Given the description of an element on the screen output the (x, y) to click on. 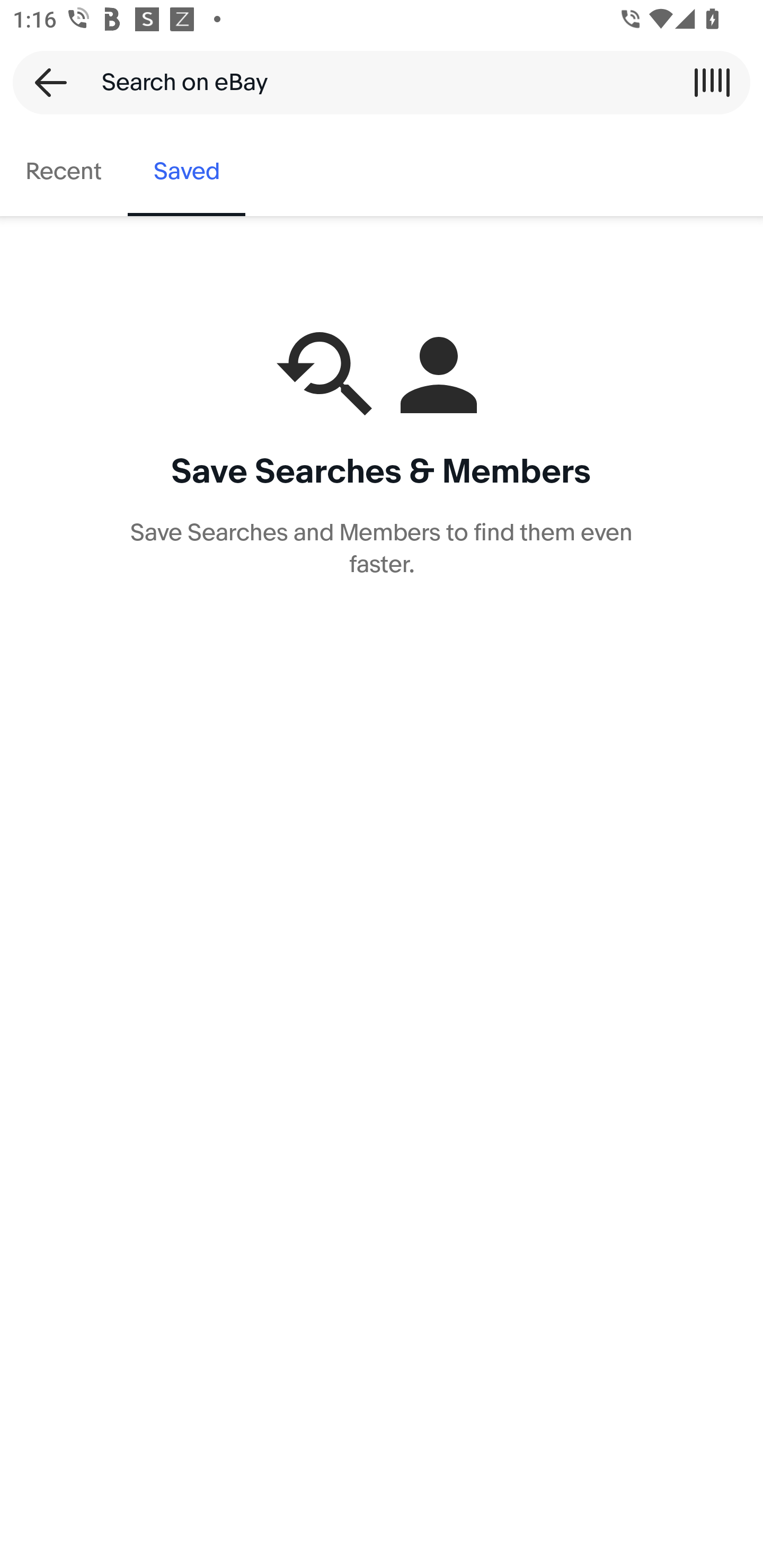
Back (44, 82)
Scan a barcode (711, 82)
Search on eBay (375, 82)
Recent, tab 1 of 2 Recent (63, 171)
